Given the description of an element on the screen output the (x, y) to click on. 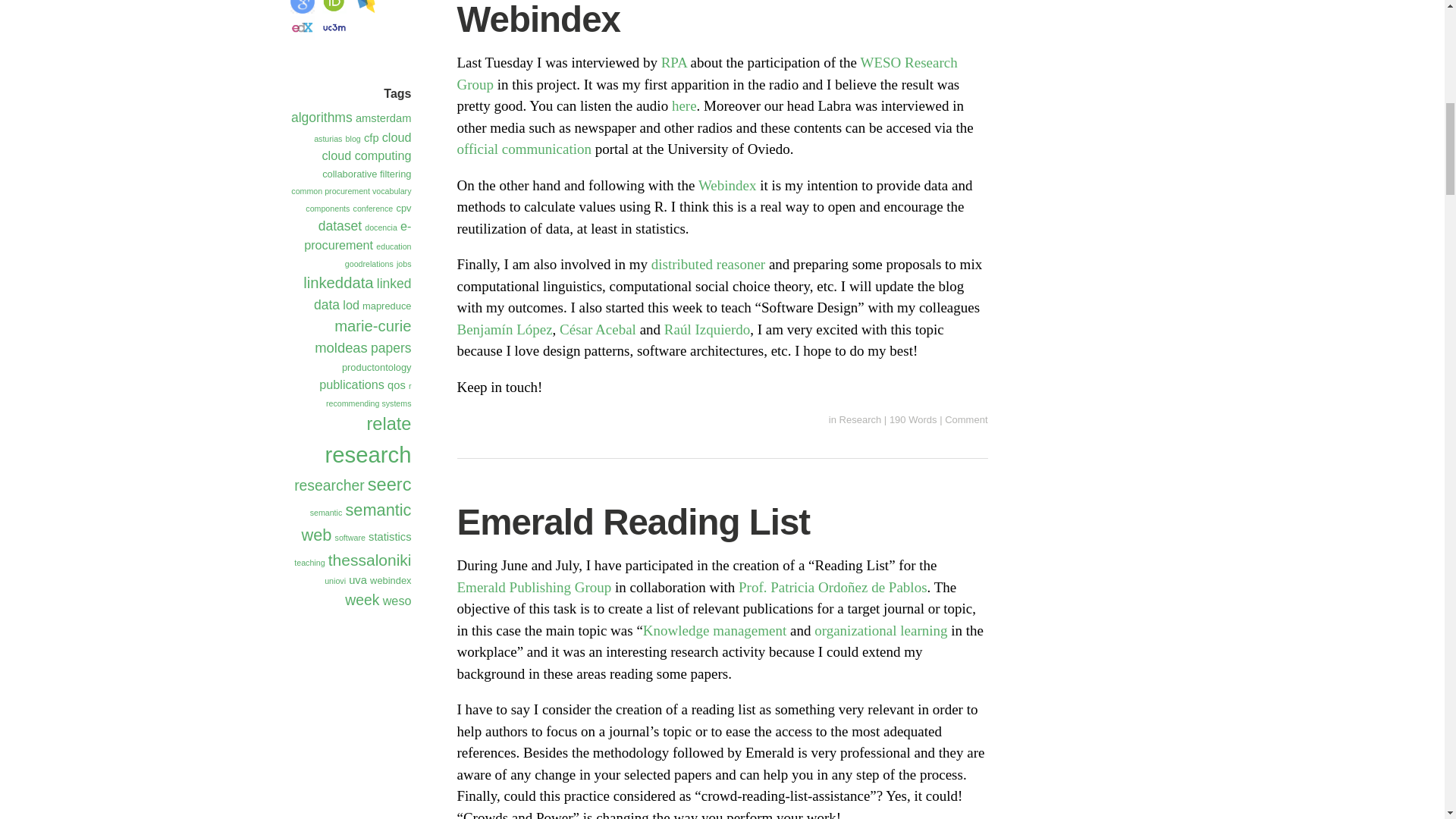
Research (861, 419)
organizational learning (880, 629)
official communication (524, 148)
here (684, 105)
WESO Research Group (706, 73)
Emerald Publishing Group (534, 587)
Emerald Reading List (633, 522)
RPA (675, 62)
Permalink to Emerald Reading List (633, 522)
Webindex (729, 185)
Audio (684, 105)
KM (714, 629)
distributed reasoner (707, 263)
Comment (965, 419)
Knowledge management (714, 629)
